Given the description of an element on the screen output the (x, y) to click on. 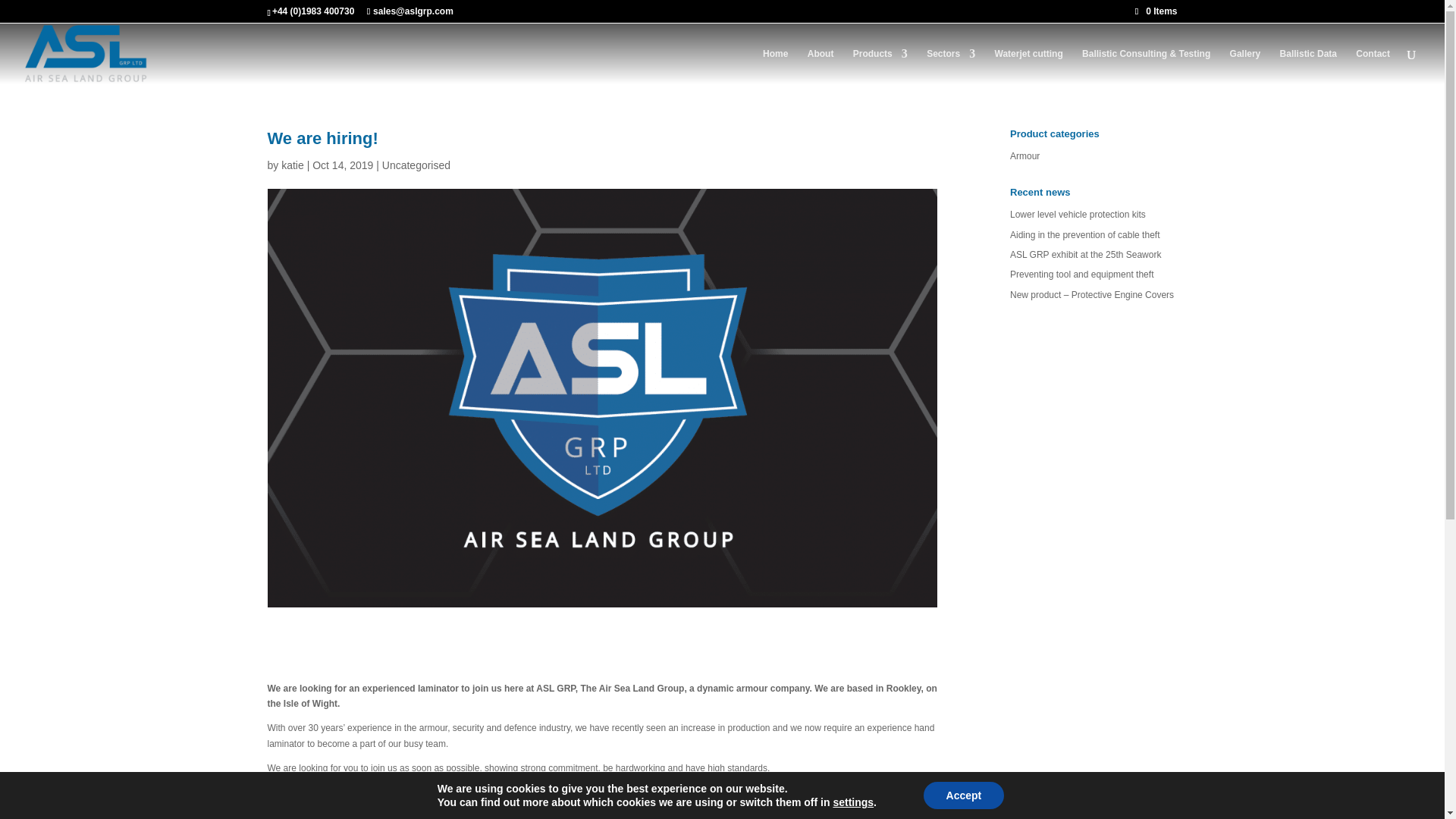
0 Items (1156, 10)
Products (880, 66)
Contact (1372, 66)
Ballistic Data (1307, 66)
Waterjet cutting (1028, 66)
Sectors (950, 66)
Posts by katie (292, 164)
